Given the description of an element on the screen output the (x, y) to click on. 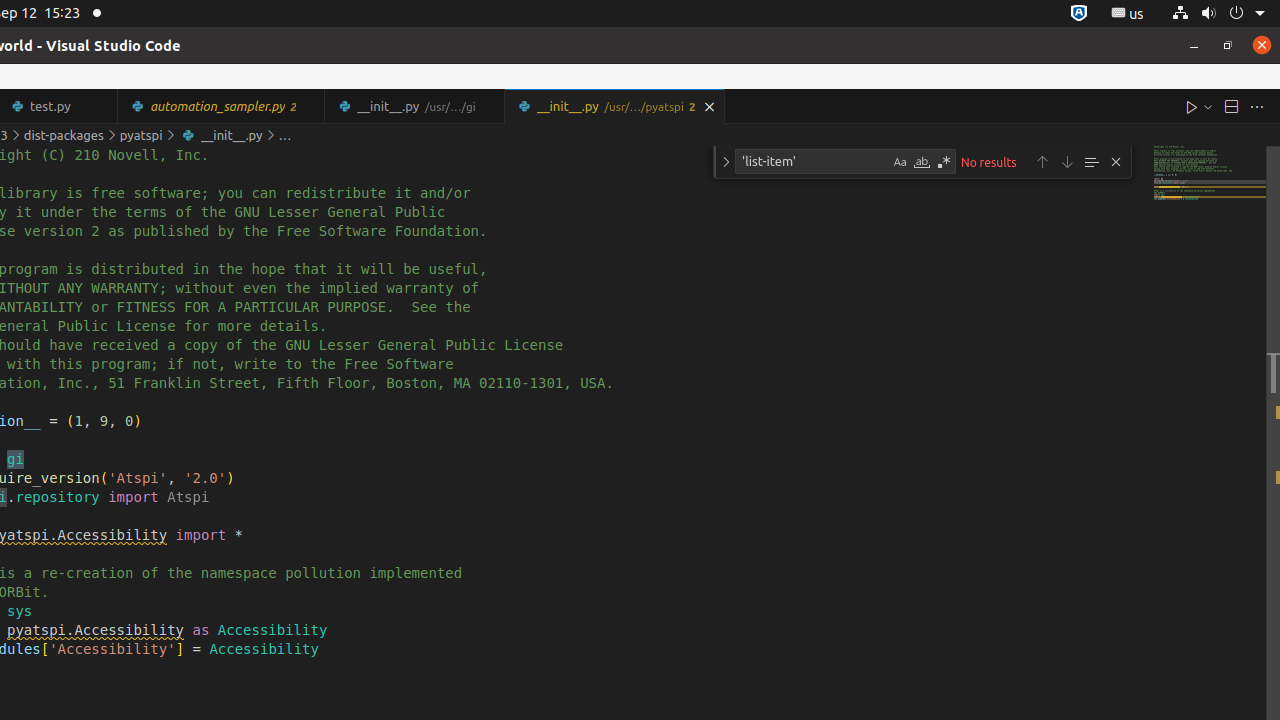
Find in Selection (Alt+L) Element type: check-box (1091, 161)
__init__.py Element type: page-tab (614, 106)
Next Match (Enter) Element type: push-button (1067, 161)
